Given the description of an element on the screen output the (x, y) to click on. 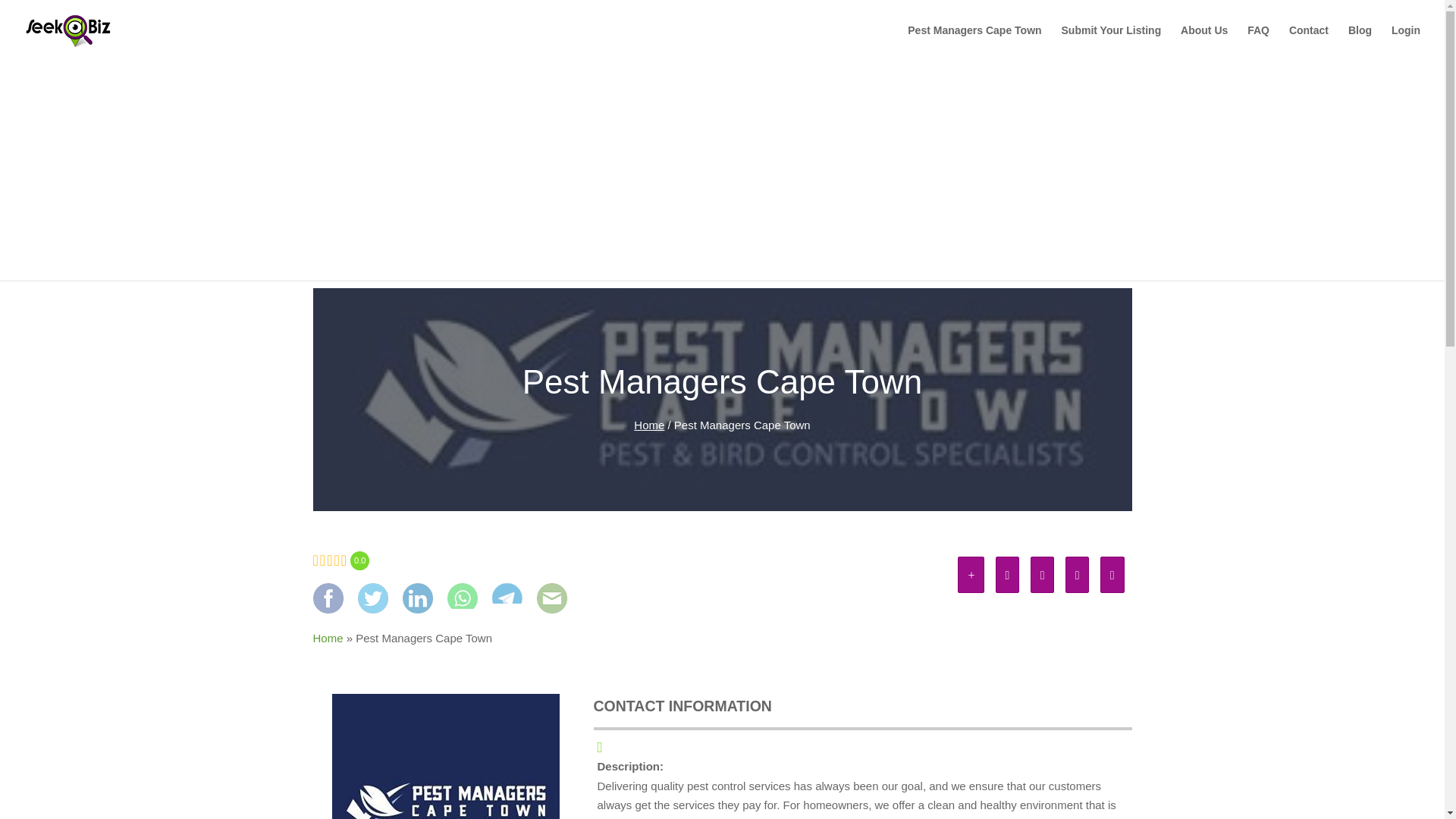
Submit Your Listing (1111, 42)
Pest Managers Cape Town (974, 42)
Contact (1307, 42)
Home (648, 424)
About Us (1203, 42)
Home (327, 637)
